Given the description of an element on the screen output the (x, y) to click on. 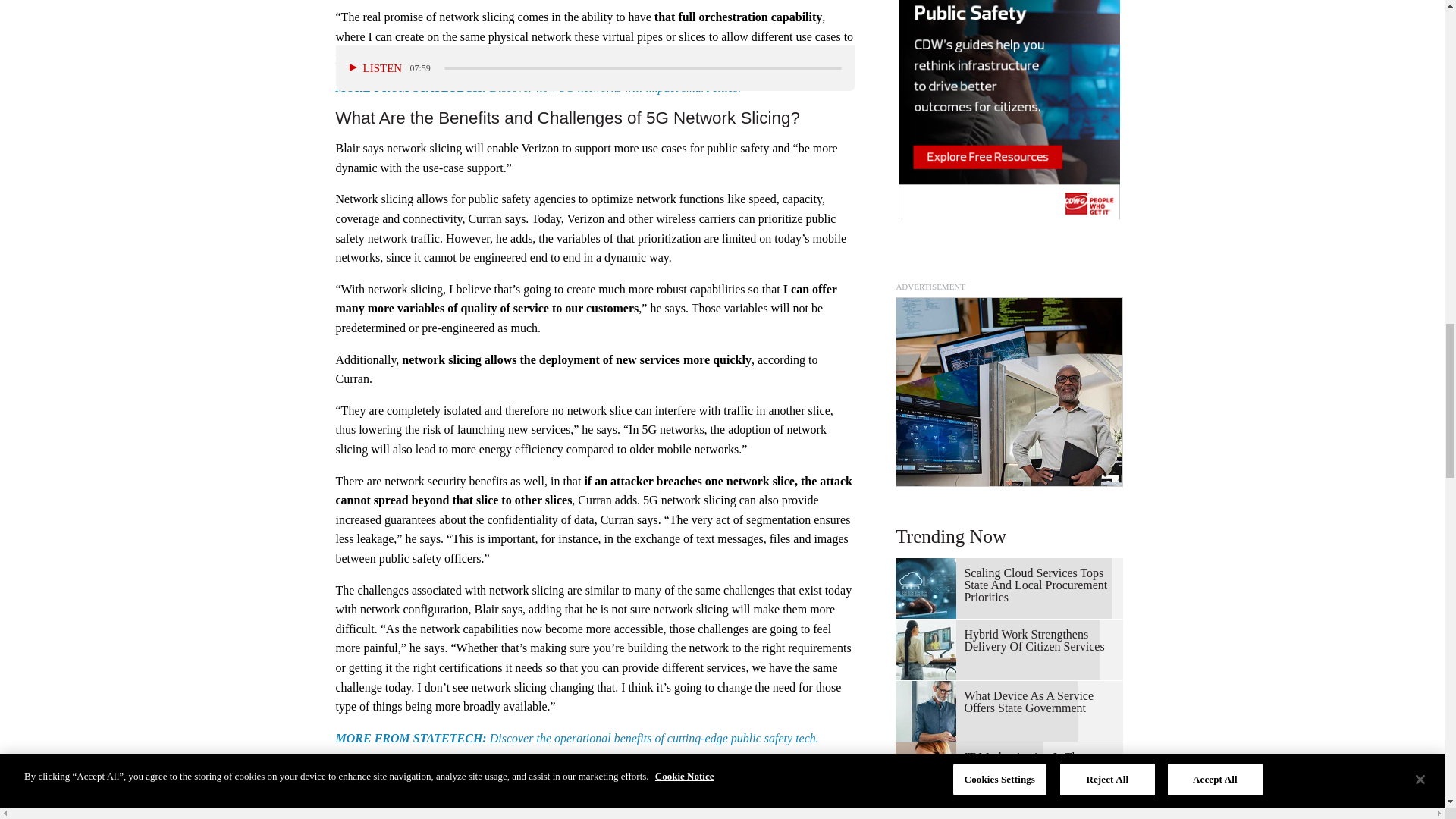
advertisement (1008, 391)
